Given the description of an element on the screen output the (x, y) to click on. 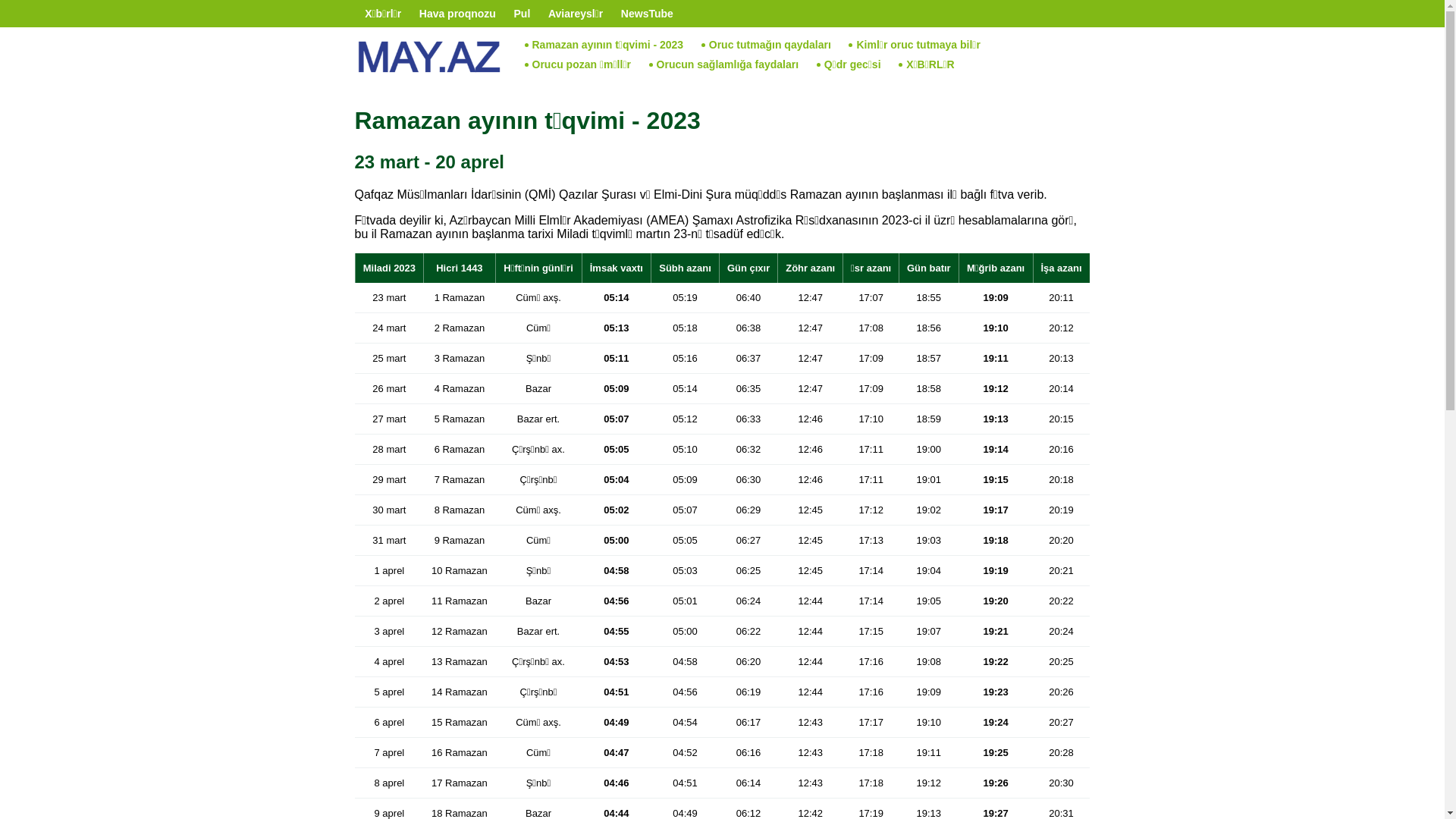
Hava proqnozu Element type: text (457, 13)
NewsTube Element type: text (646, 13)
Pul Element type: text (522, 13)
